Given the description of an element on the screen output the (x, y) to click on. 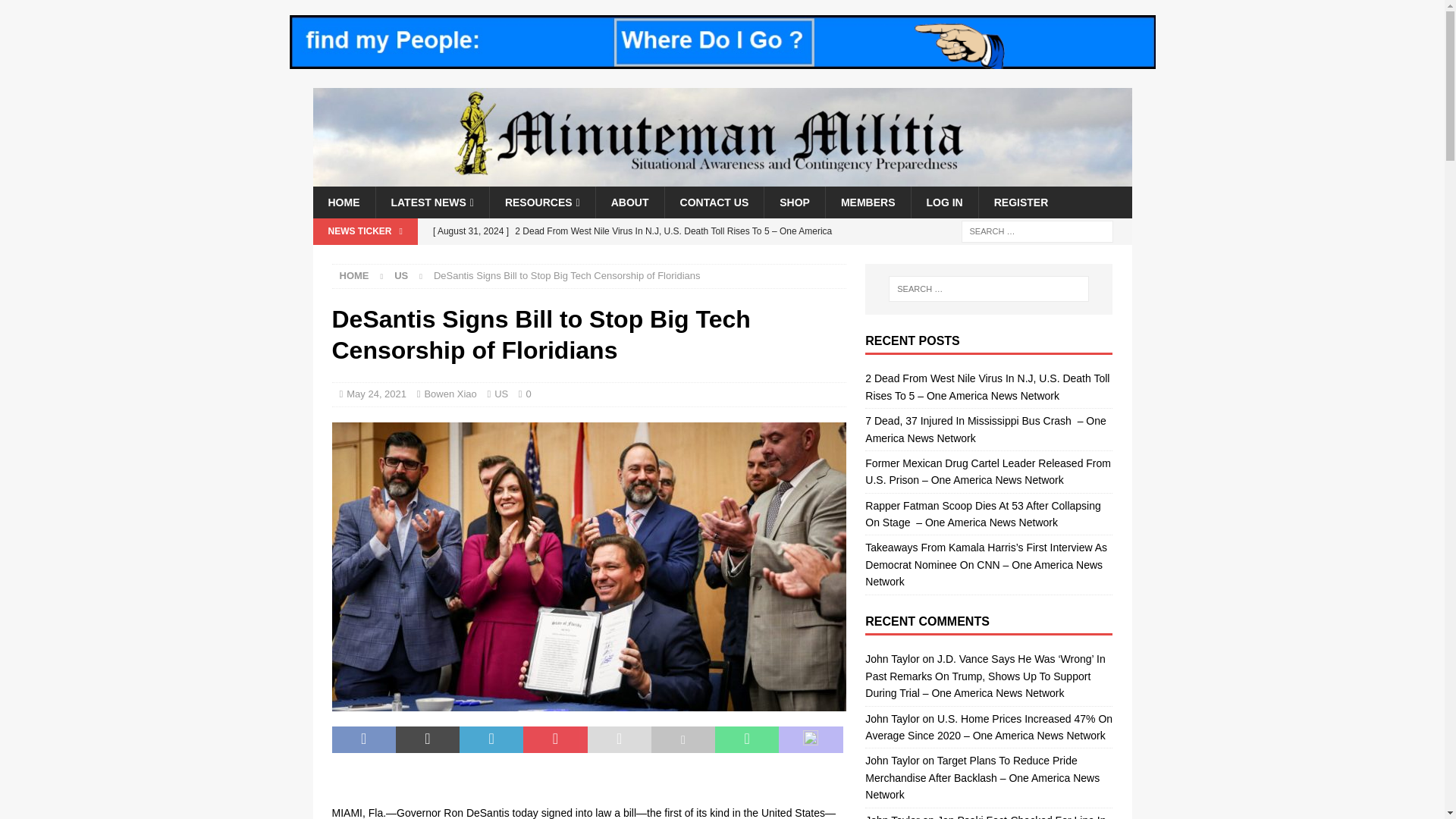
Pin This Post (554, 739)
RESOURCES (542, 202)
MEMBERS (868, 202)
HOME (354, 275)
Tweet This Post (428, 739)
REGISTER (1021, 202)
Bowen Xiao (449, 393)
HOME (343, 202)
Share on LinkedIn (491, 739)
Send this article to a friend (619, 739)
